Given the description of an element on the screen output the (x, y) to click on. 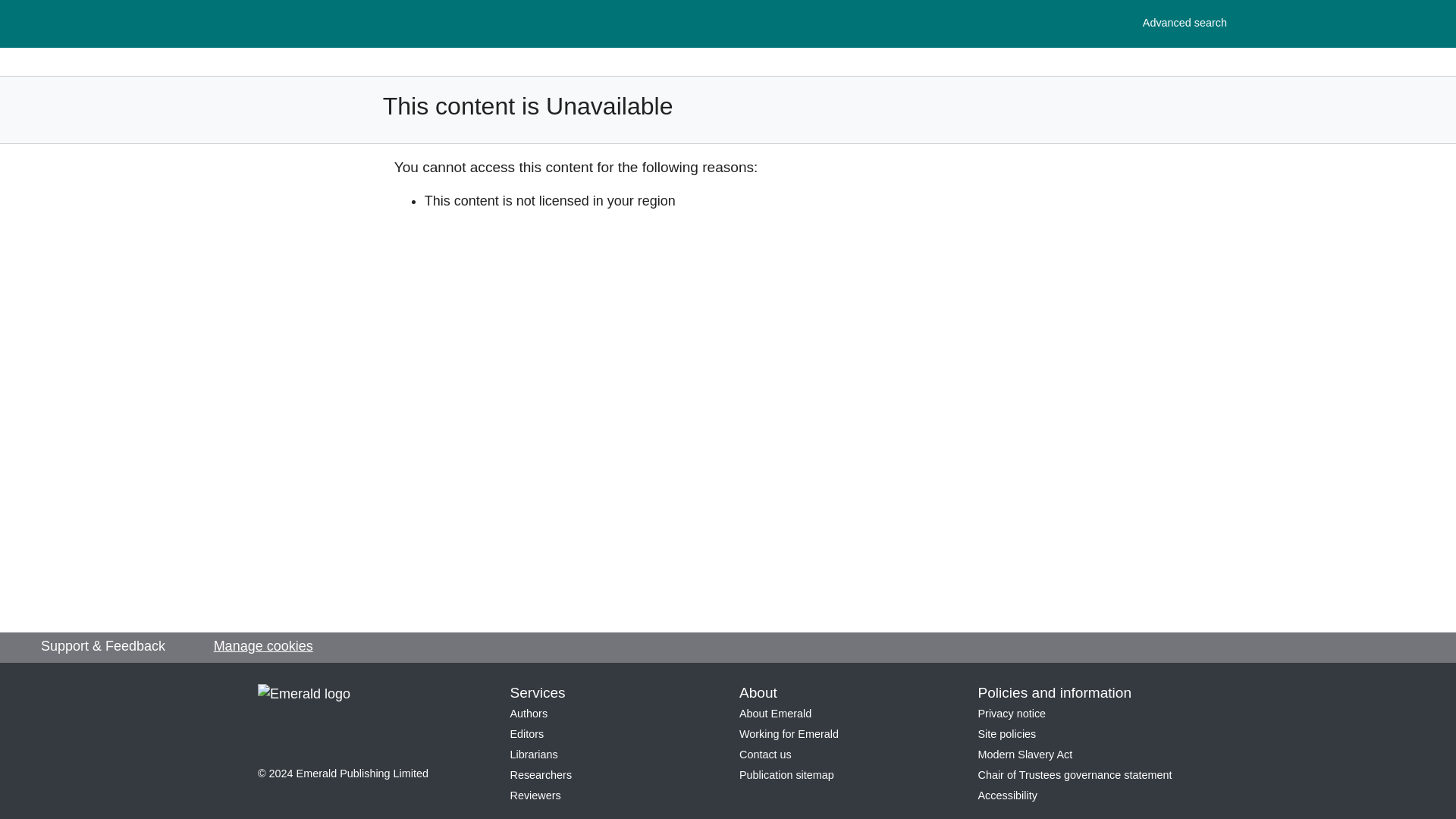
Librarians (1184, 23)
Manage cookies (533, 754)
Chair of Trustees governance statement (263, 646)
Contact us (1075, 775)
Publication sitemap (765, 754)
Modern Slavery Act (786, 775)
Editors (1025, 754)
Authors (526, 734)
Site policies (528, 713)
